Given the description of an element on the screen output the (x, y) to click on. 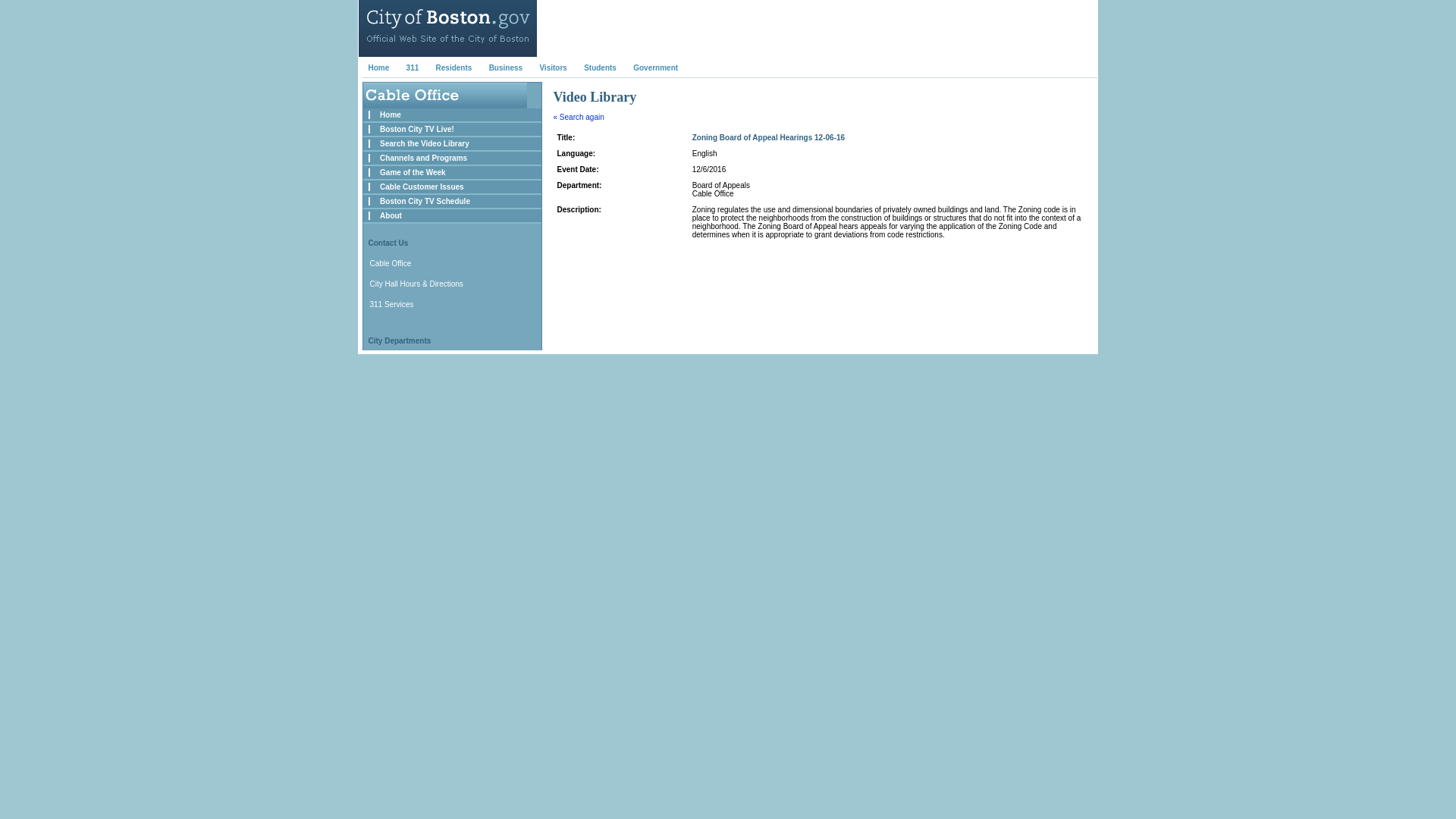
Boston City TV Schedule (425, 201)
Cable Customer Issues (422, 186)
Business (505, 67)
Students (599, 67)
Government (655, 67)
Visitors (552, 67)
About (390, 215)
Cable Office (390, 263)
Search the Video Library (424, 143)
311 Services (391, 304)
Home (390, 114)
Channels and Programs (423, 157)
Game of the Week (412, 172)
Residents (453, 67)
Boston City TV Live! (417, 129)
